Given the description of an element on the screen output the (x, y) to click on. 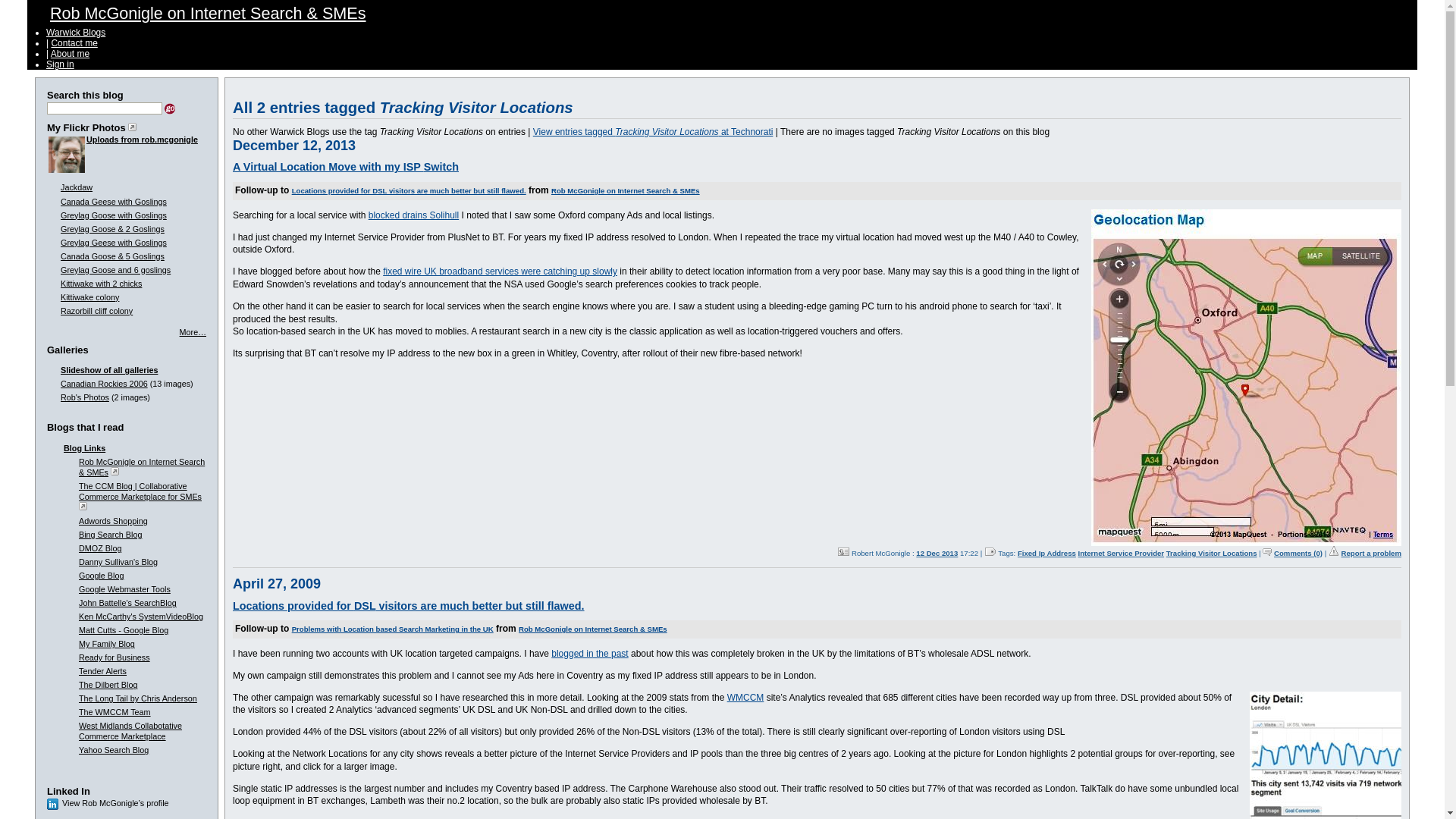
Tracking Visitor Locations (1211, 552)
Staff: Warwick Manufacturing Group (843, 551)
Uploads from rob.mcgonigle (141, 139)
Canada Geese with Goslings (114, 201)
Read all entries written on this date (936, 552)
View entries tagged Tracking Visitor Locations at Technorati (652, 131)
WMCCM (745, 697)
Sign in (60, 63)
